Given the description of an element on the screen output the (x, y) to click on. 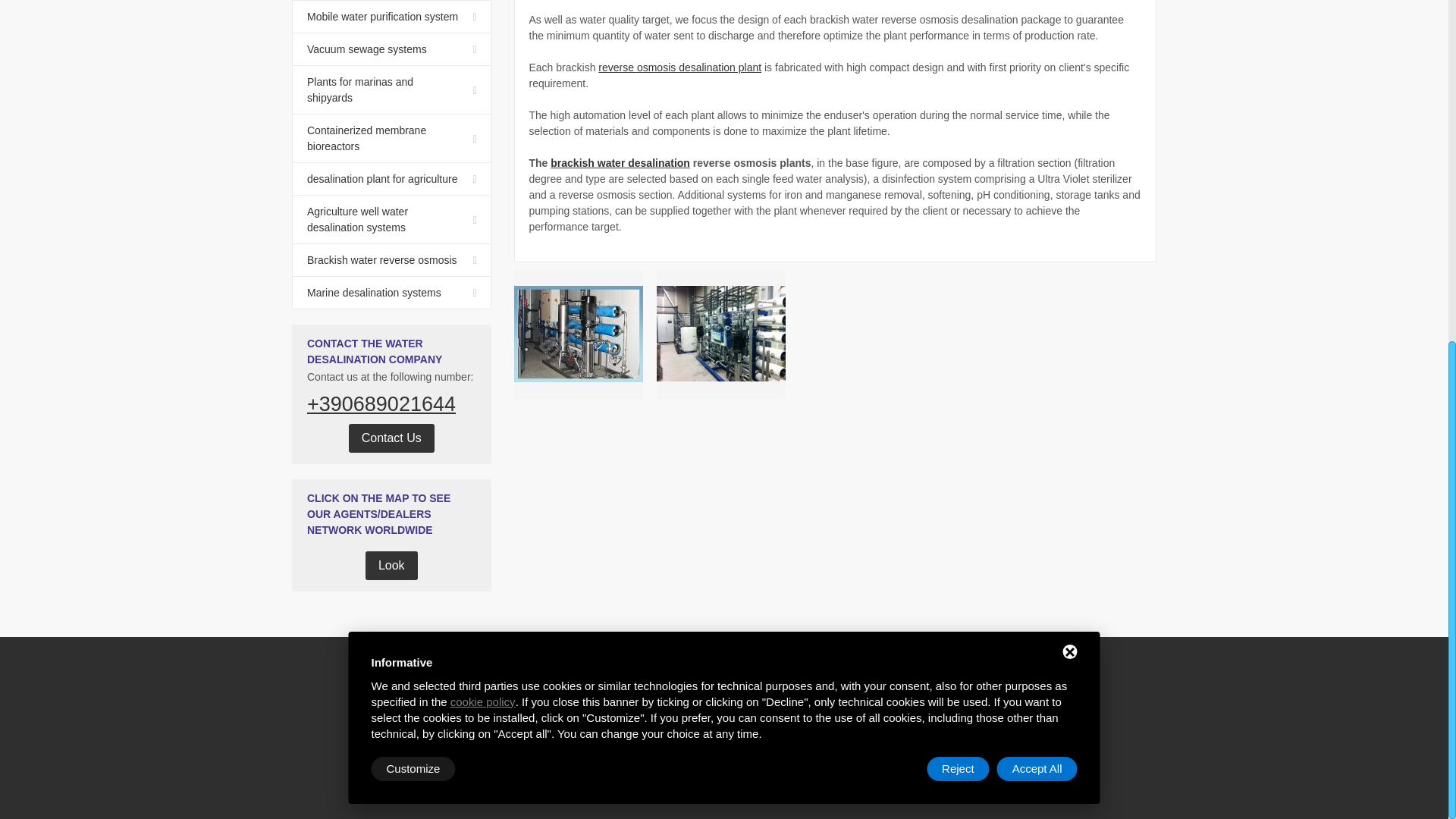
Contact Us (391, 438)
desalination plant for agriculture (392, 178)
Containerized membrane bioreactors (392, 138)
Agriculture well water desalination systems (392, 219)
Mobile water purification system (392, 16)
Plants for marinas and shipyards (392, 90)
reverse osmosis desalination plant (679, 67)
Marine desalination systems (392, 292)
Brackish water reverse osmosis (392, 260)
Look (391, 565)
brackish water desalination (620, 162)
Mobile water purification system (392, 16)
Vacuum sewage systems (392, 49)
